Given the description of an element on the screen output the (x, y) to click on. 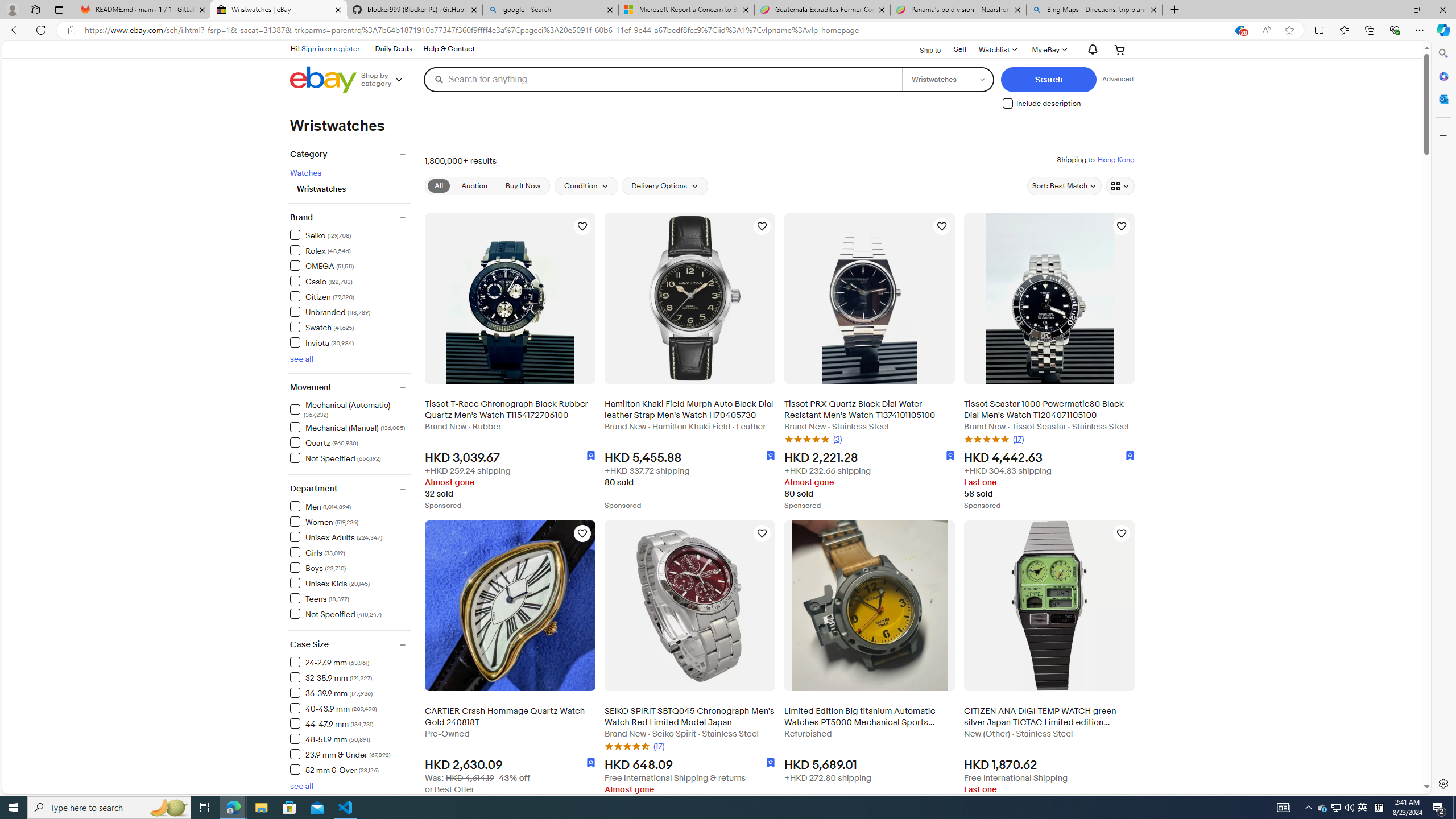
Auction (473, 185)
All (438, 185)
Casio (122,783) Items (320, 280)
All selected (438, 185)
Shop by category (386, 79)
Department (349, 488)
Seiko(129,708) Items (349, 234)
